Given the description of an element on the screen output the (x, y) to click on. 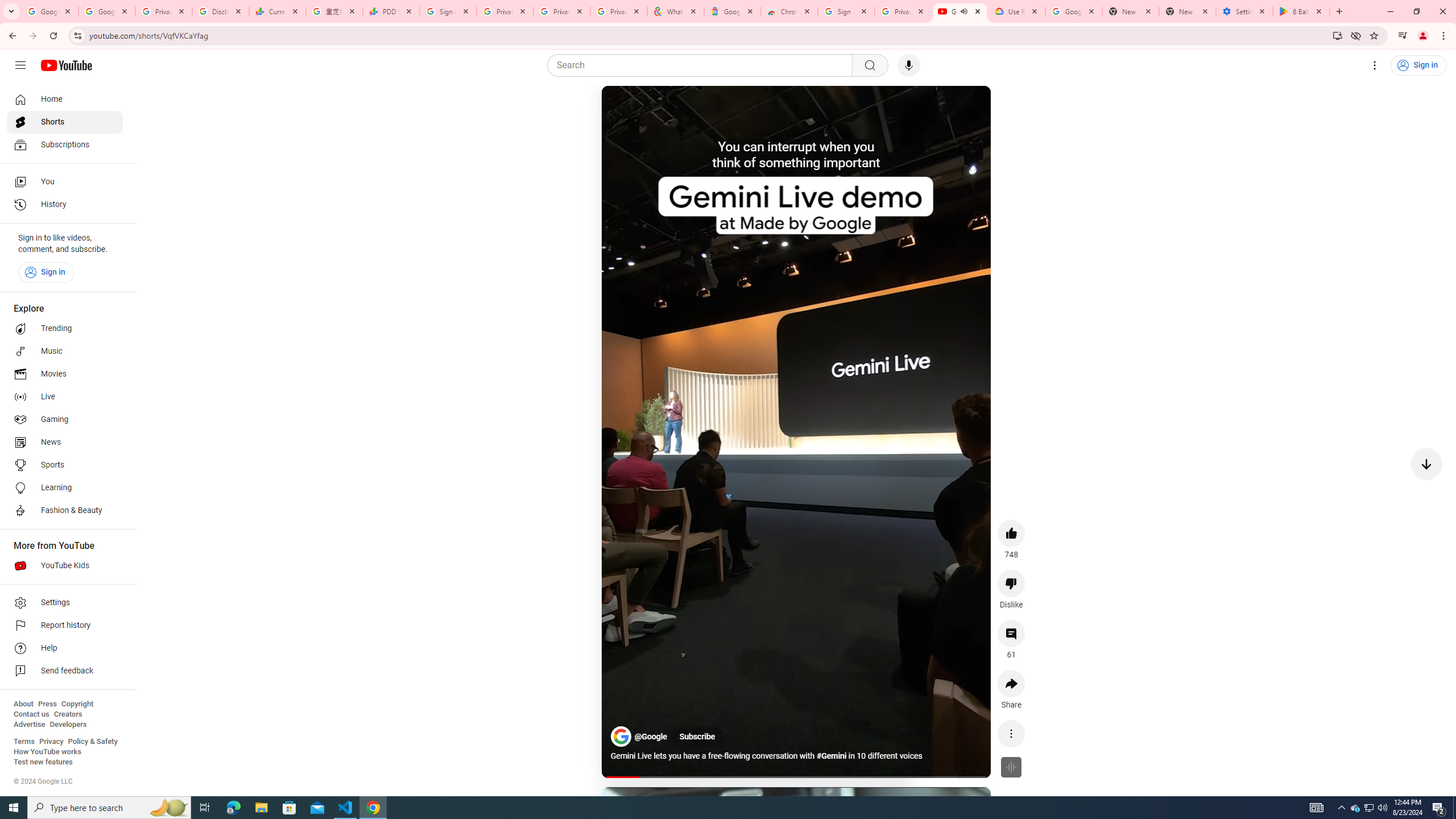
Learning (64, 487)
Dislike this video (1011, 583)
Play (k) (623, 108)
Privacy Checkup (561, 11)
Share (1011, 682)
How YouTube works (47, 751)
Privacy Checkup (618, 11)
Next video (1426, 463)
8 Ball Pool - Apps on Google Play (1301, 11)
Sign in - Google Accounts (447, 11)
